Given the description of an element on the screen output the (x, y) to click on. 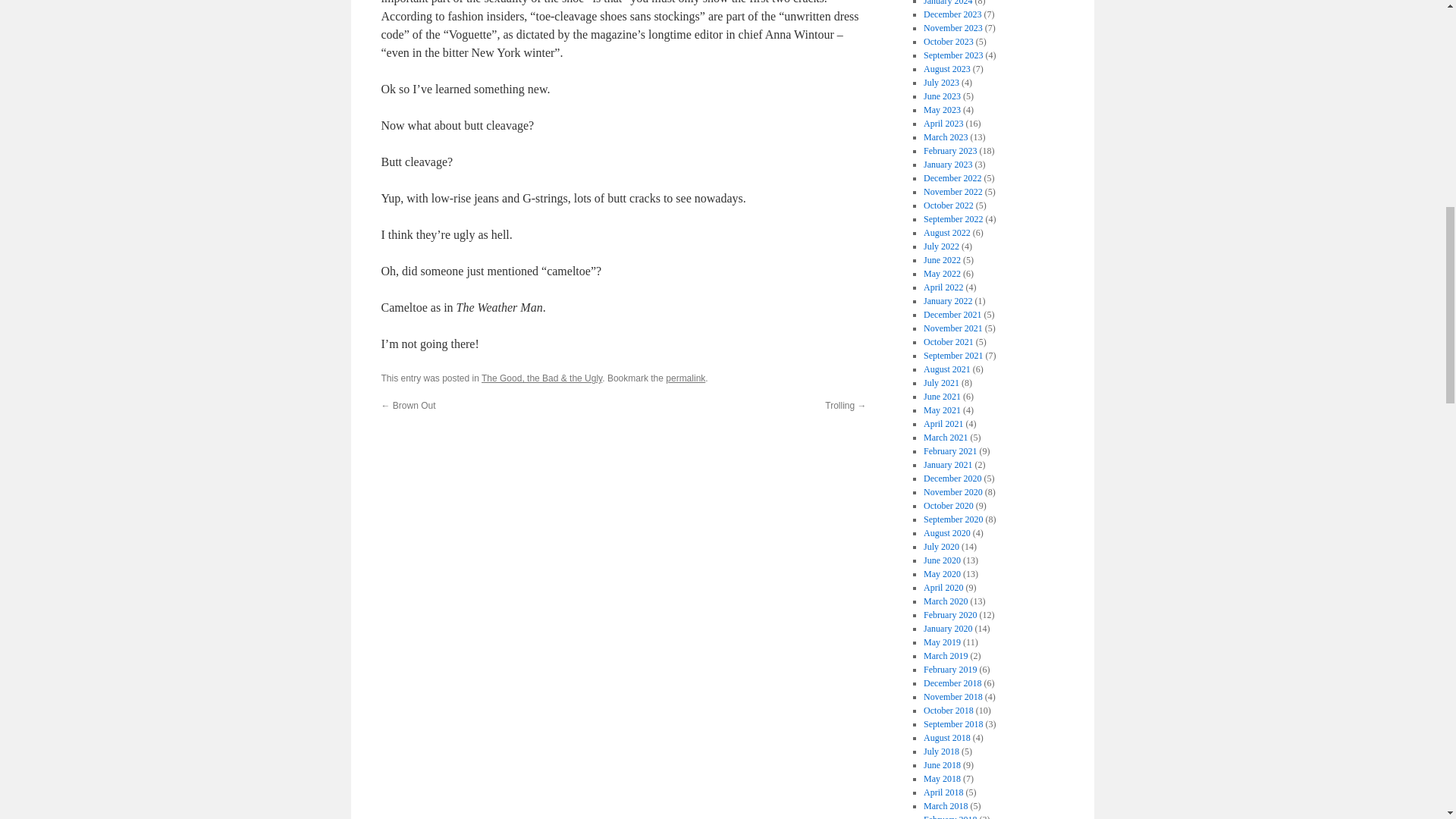
January 2024 (947, 2)
Permalink to Toe Cleavage (684, 378)
December 2023 (952, 14)
permalink (684, 378)
